Given the description of an element on the screen output the (x, y) to click on. 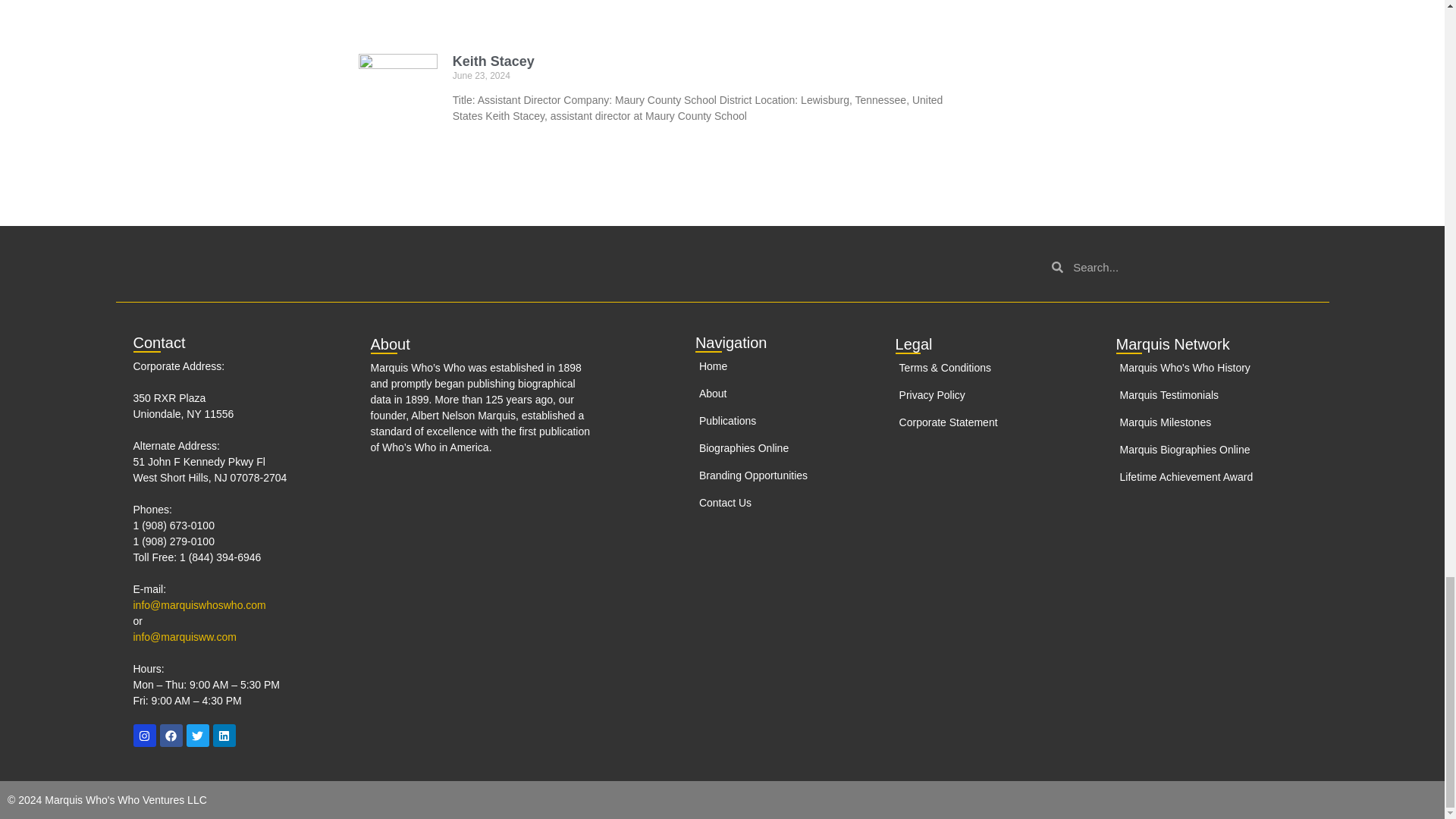
Biographies Online (768, 448)
Privacy Policy (995, 395)
Publications (768, 421)
Keith Stacey (493, 61)
Contact Us (768, 503)
Home (768, 366)
Branding Opportunities (768, 475)
About (768, 393)
